Given the description of an element on the screen output the (x, y) to click on. 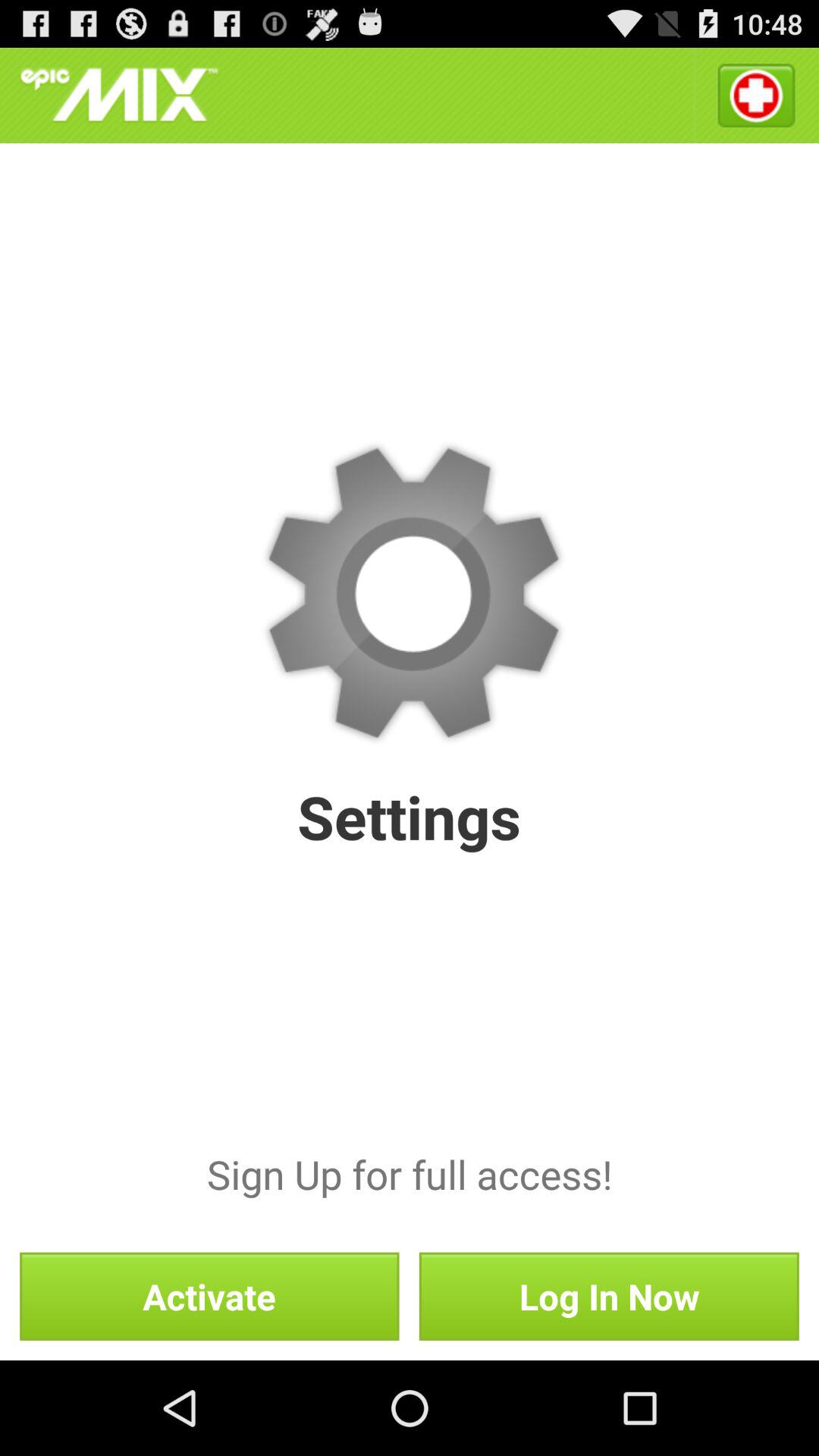
turn on the button to the left of the log in now button (209, 1296)
